Given the description of an element on the screen output the (x, y) to click on. 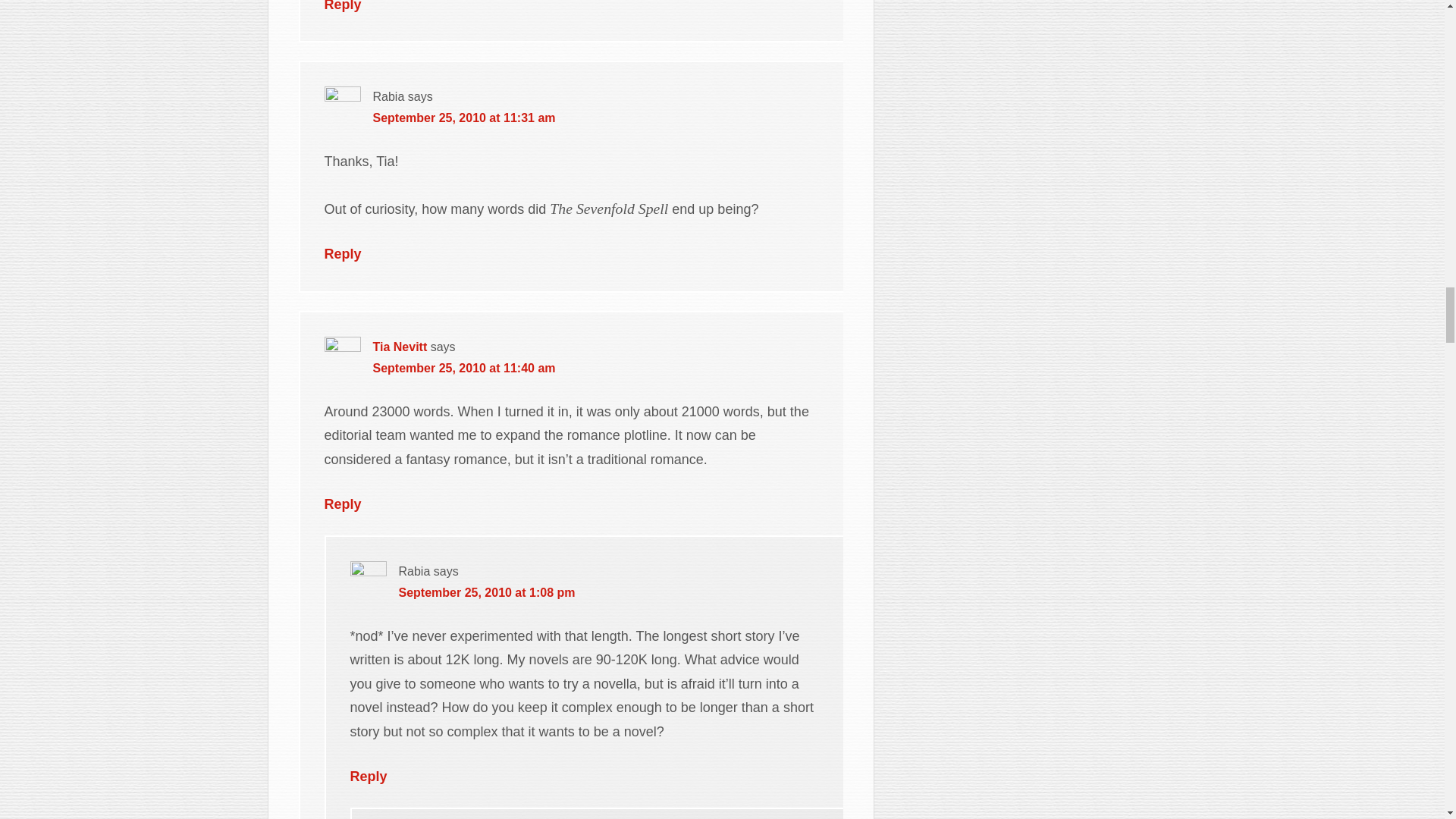
Reply (342, 503)
Reply (368, 776)
September 25, 2010 at 11:40 am (464, 367)
Reply (342, 6)
September 25, 2010 at 11:31 am (464, 117)
Reply (342, 253)
September 25, 2010 at 1:08 pm (486, 592)
Tia Nevitt (400, 346)
